Given the description of an element on the screen output the (x, y) to click on. 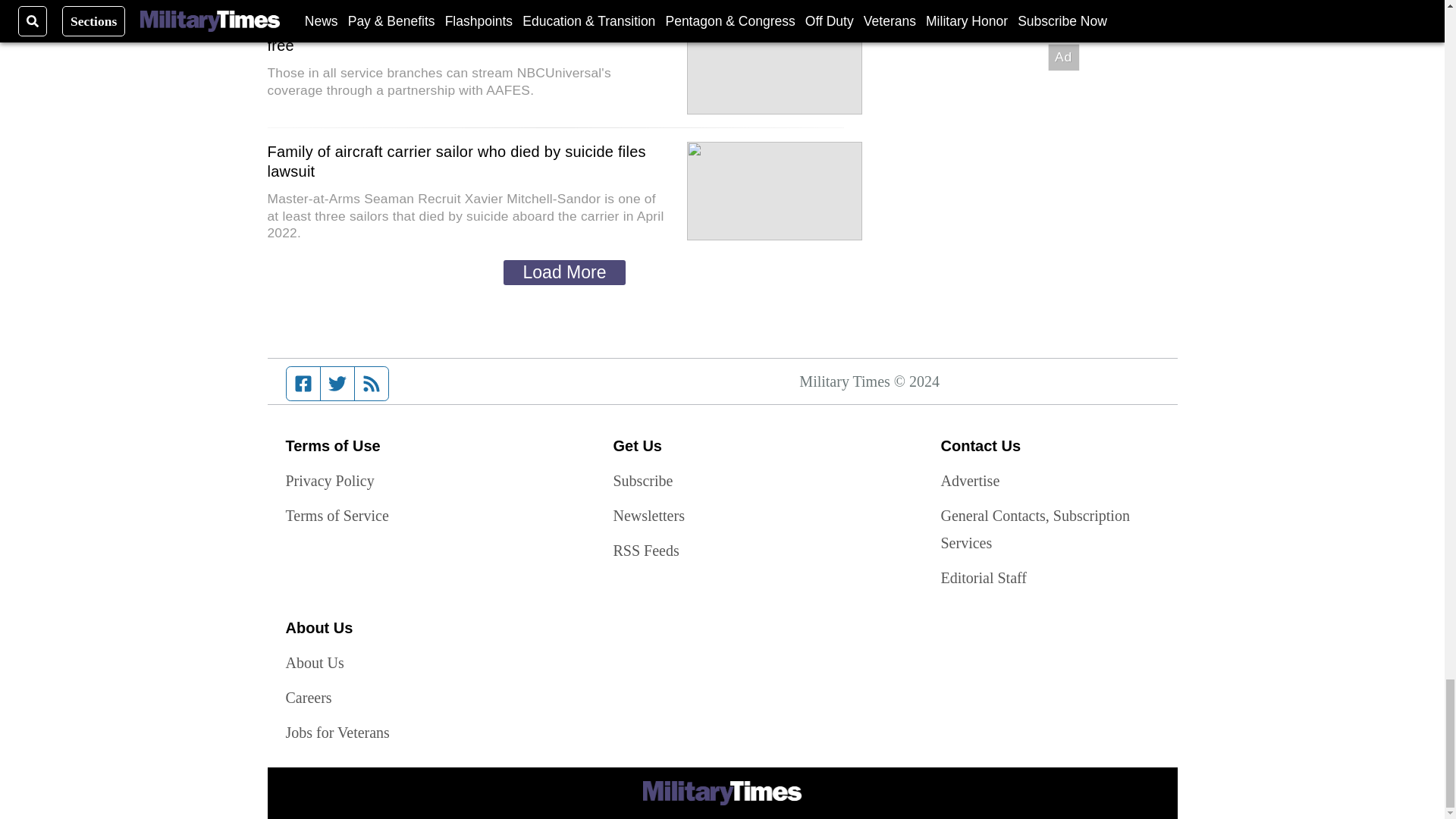
Facebook page (303, 383)
RSS feed (371, 383)
Twitter feed (336, 383)
